Given the description of an element on the screen output the (x, y) to click on. 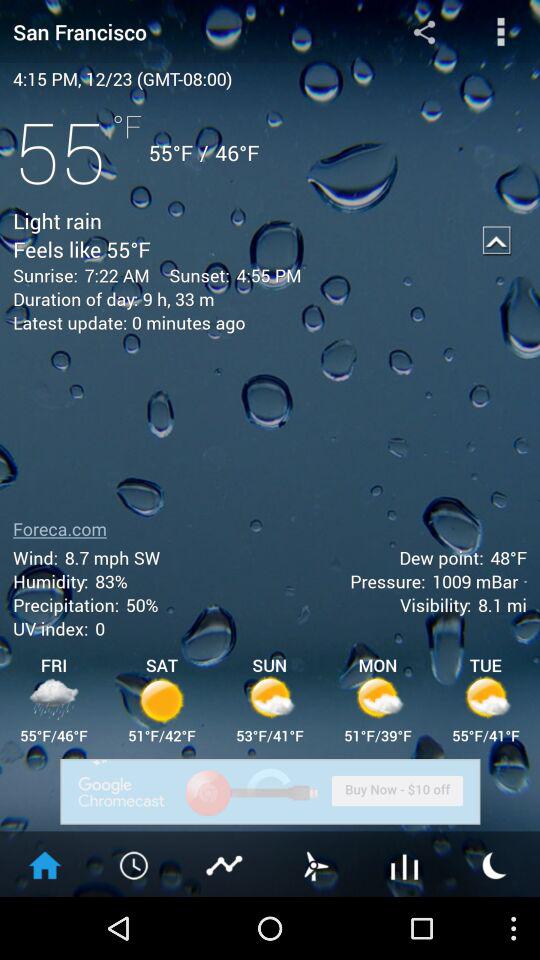
click the item next to san francisco (424, 31)
